Given the description of an element on the screen output the (x, y) to click on. 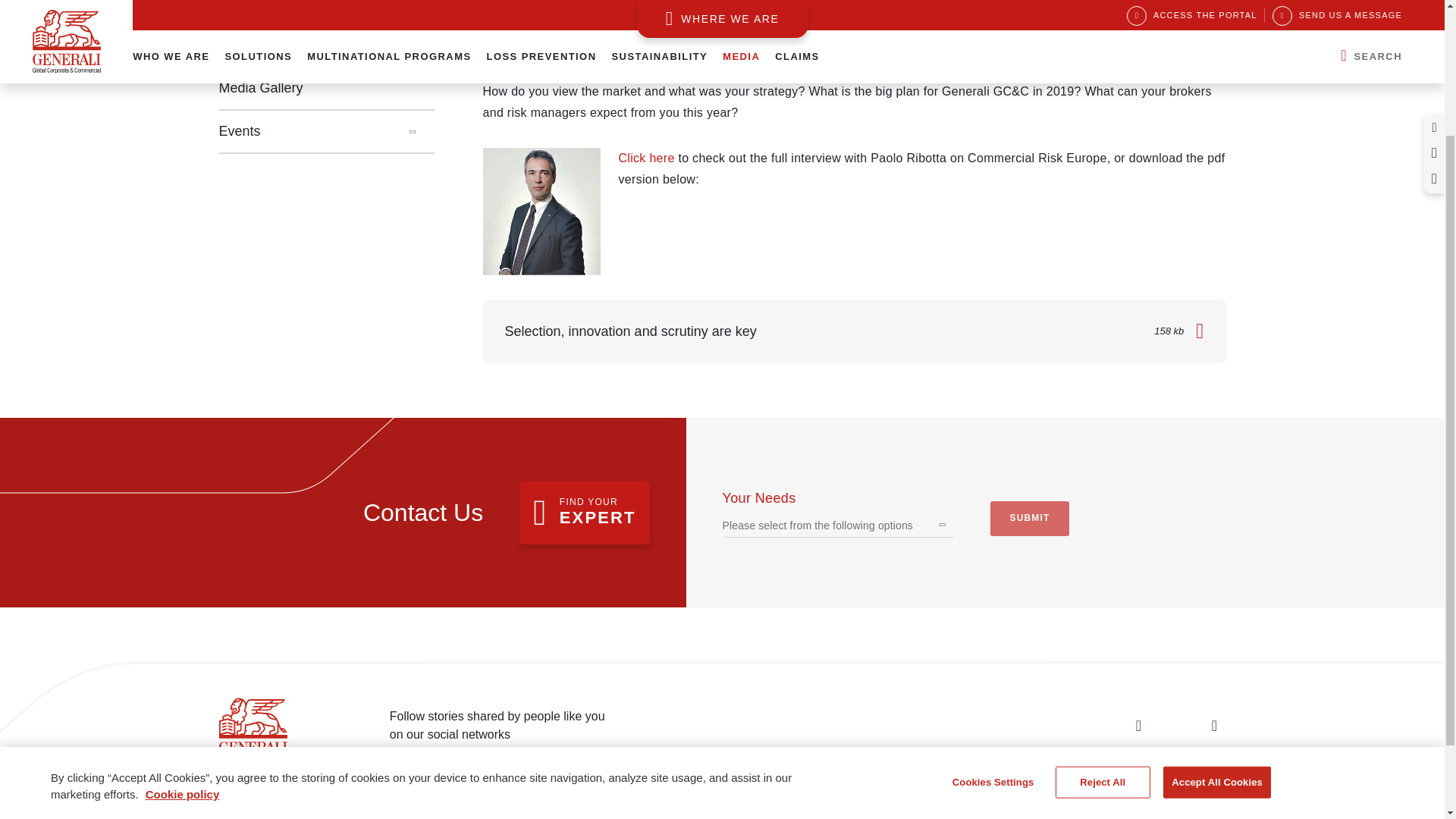
Youtube (1213, 725)
Please select from the following options (817, 525)
Linkedin (1138, 725)
Selection, innovation and scrutiny are key (540, 211)
